Given the description of an element on the screen output the (x, y) to click on. 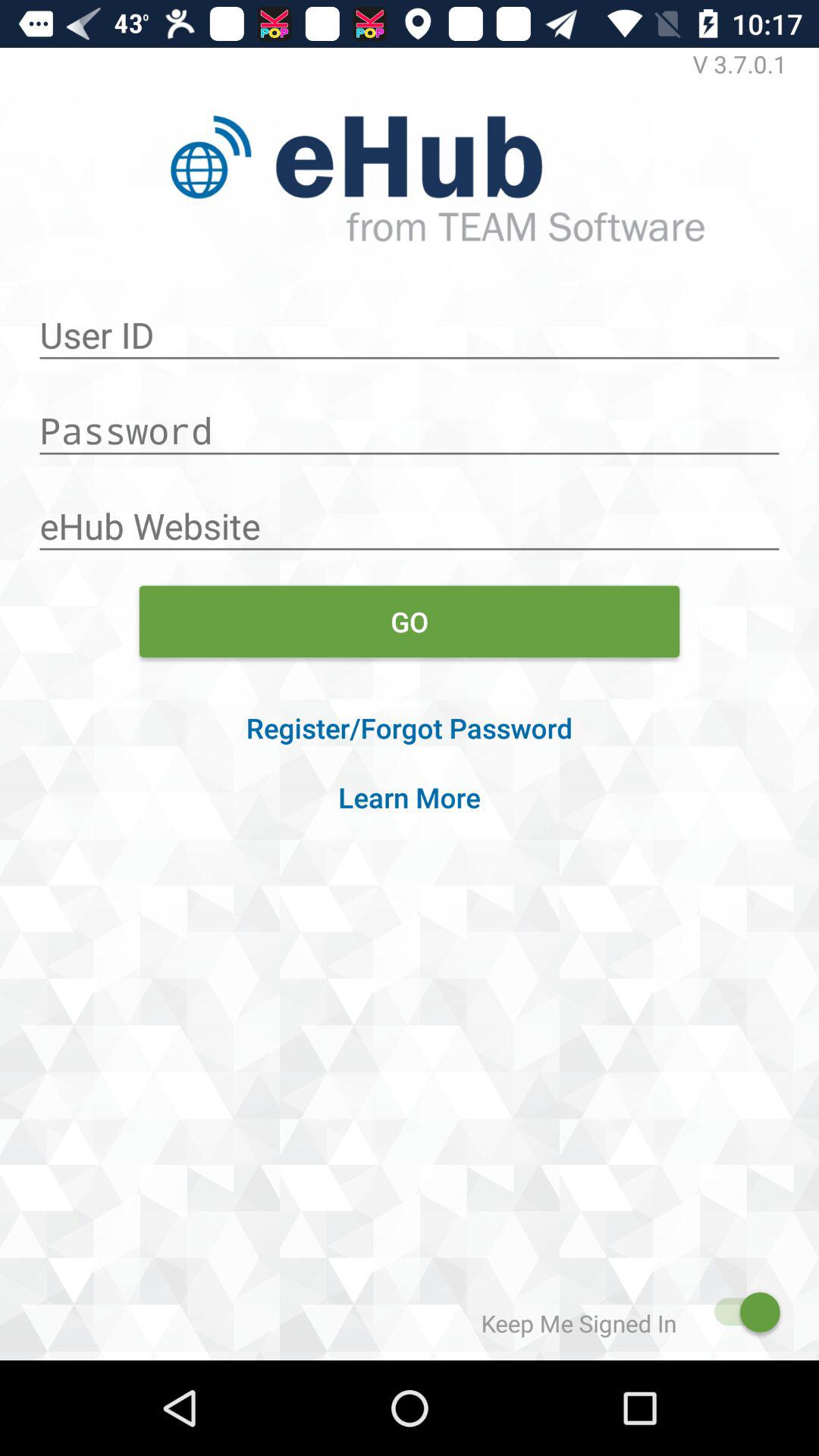
keep me signed in button (739, 1312)
